Given the description of an element on the screen output the (x, y) to click on. 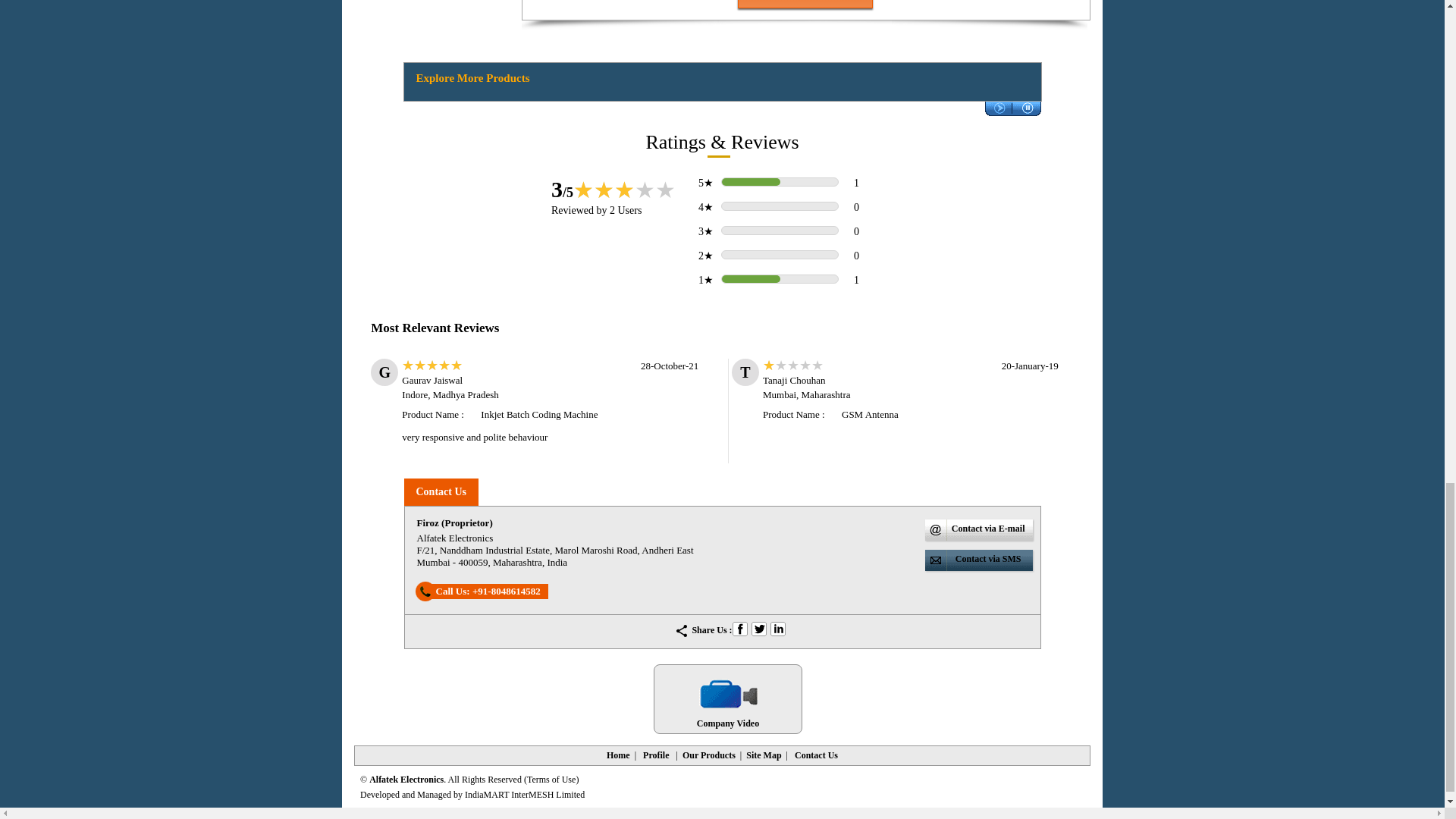
L (778, 628)
Site Map (762, 755)
Send it Now ! (805, 4)
Profile (655, 755)
Home (618, 755)
T (759, 628)
Contact Us (816, 755)
Company Video (727, 698)
Contact Us (439, 491)
Our Products (708, 755)
